Given the description of an element on the screen output the (x, y) to click on. 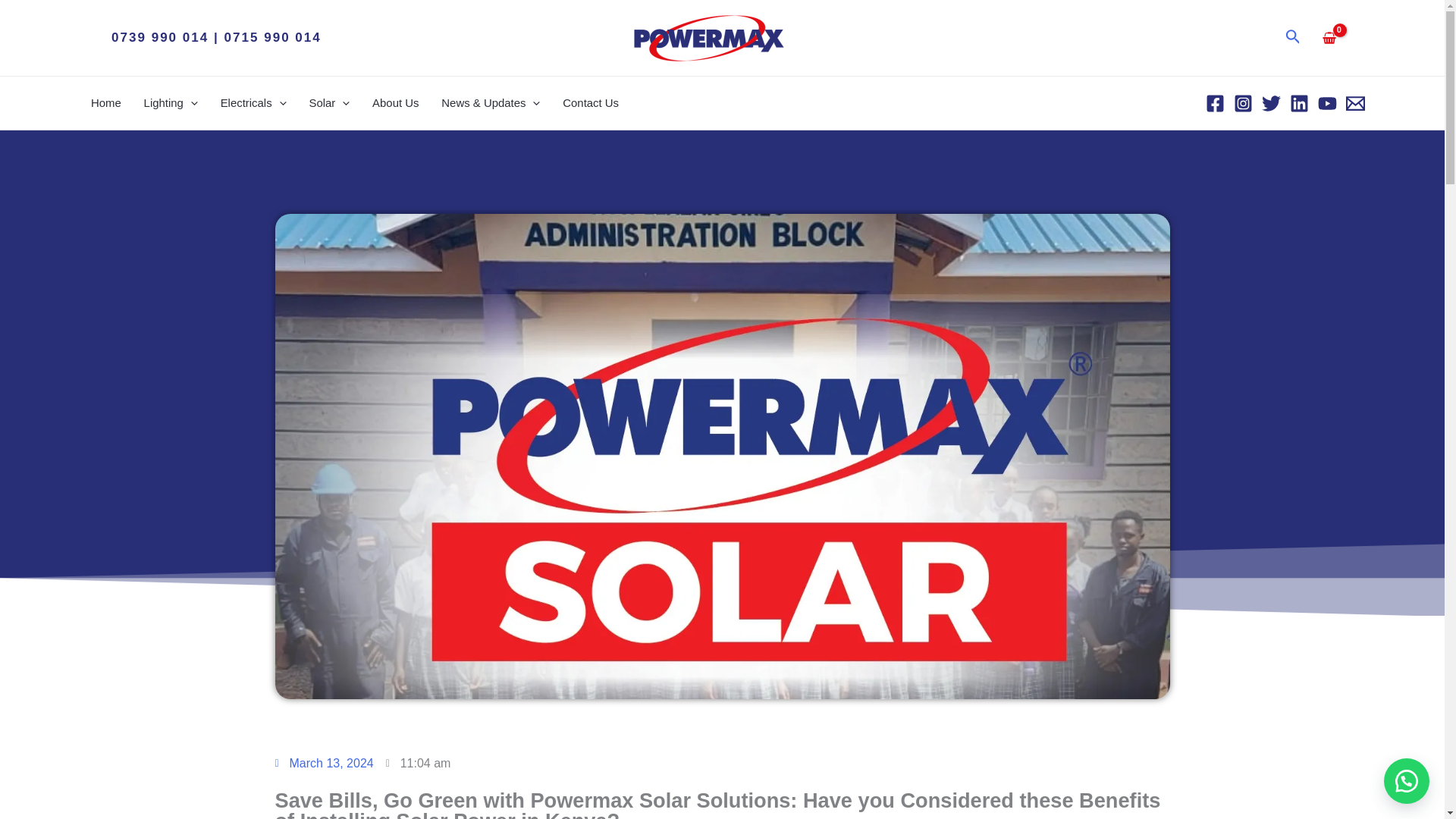
Contact Us (590, 102)
About Us (395, 102)
Lighting (170, 102)
Solar (329, 102)
Electricals (253, 102)
Home (106, 102)
